Given the description of an element on the screen output the (x, y) to click on. 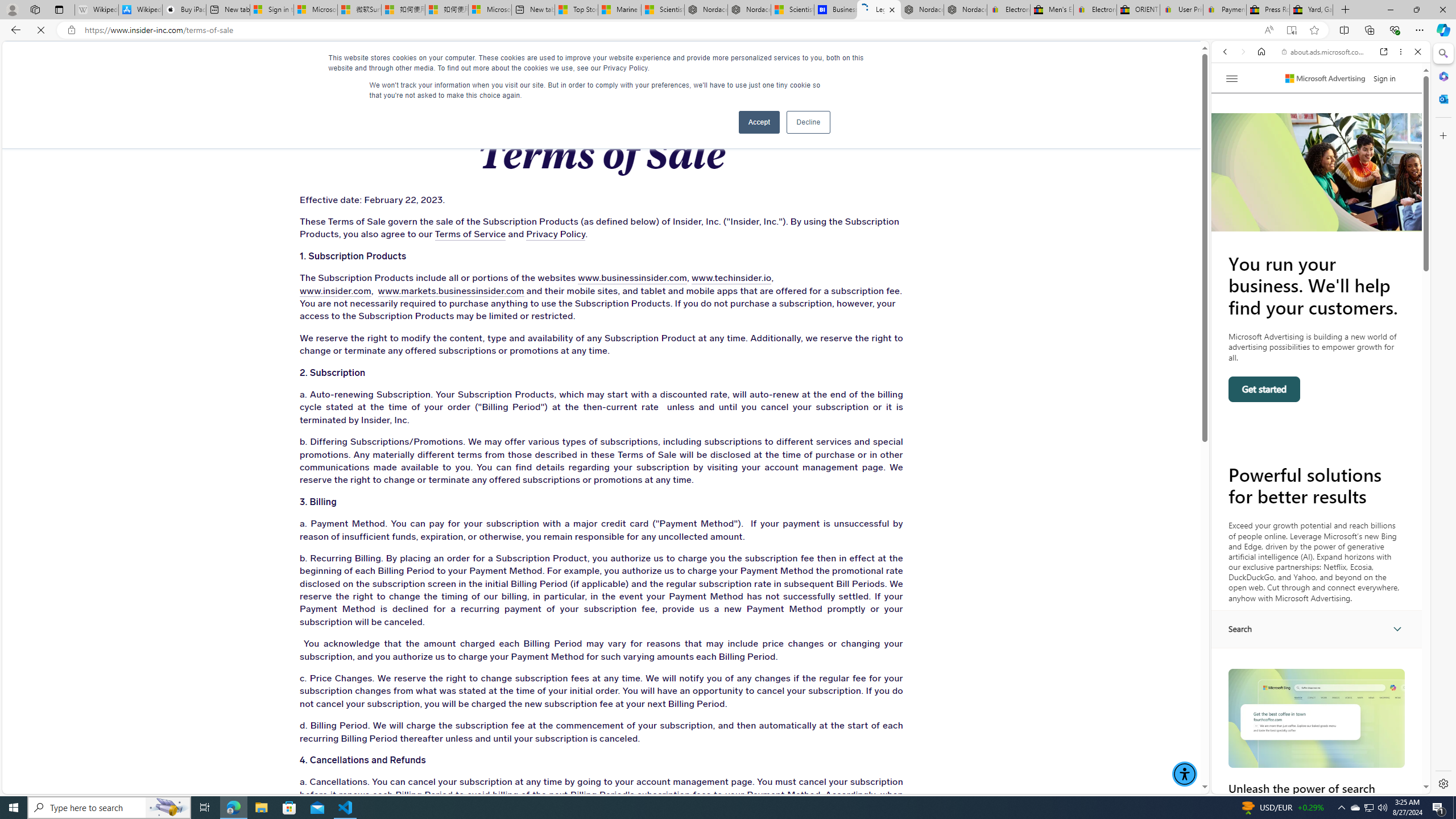
WHO WE ARE (346, 62)
WHAT WE DO (261, 62)
ADVERTISE WITH US (445, 62)
